Given the description of an element on the screen output the (x, y) to click on. 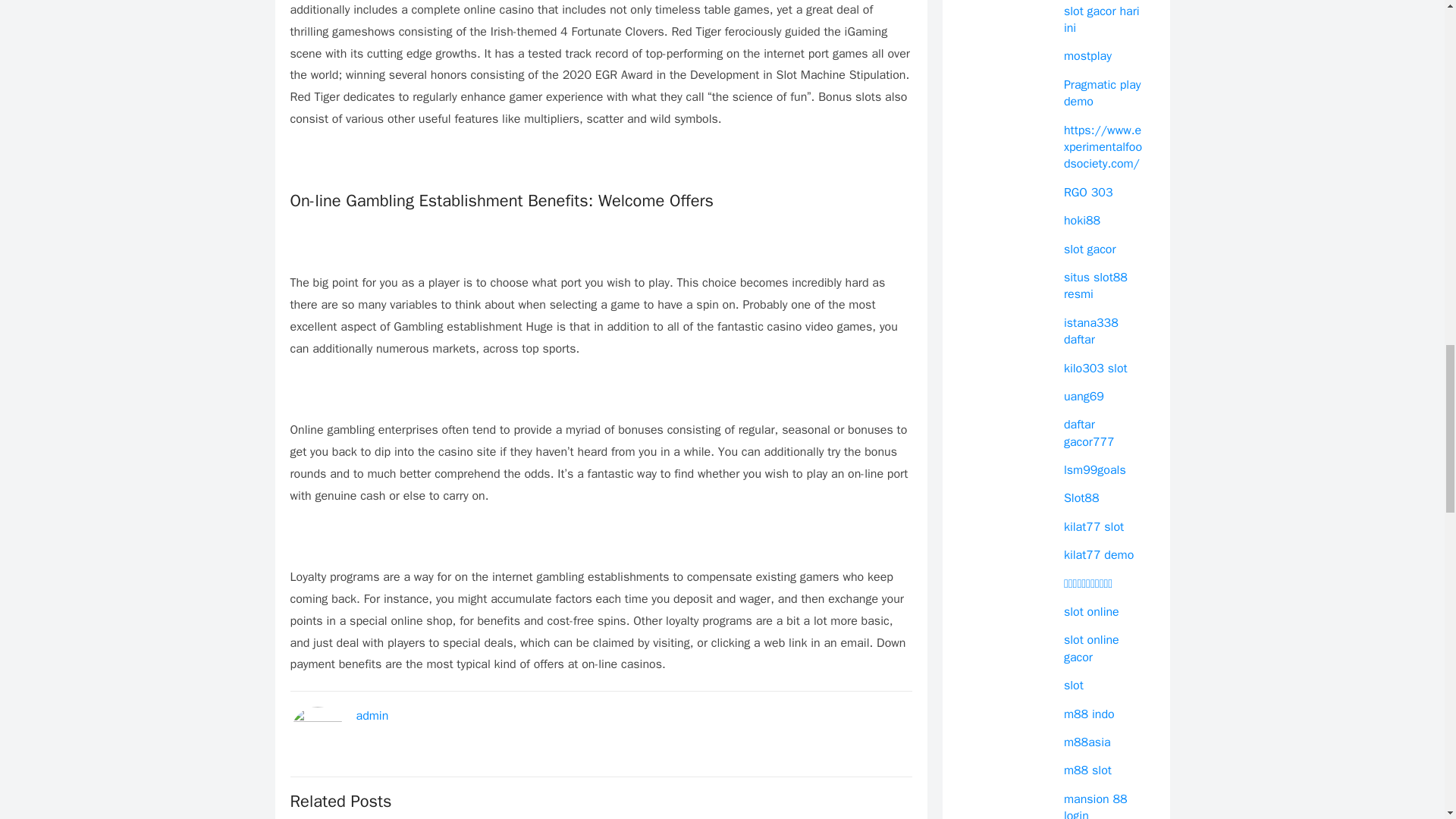
admin (372, 715)
